Given the description of an element on the screen output the (x, y) to click on. 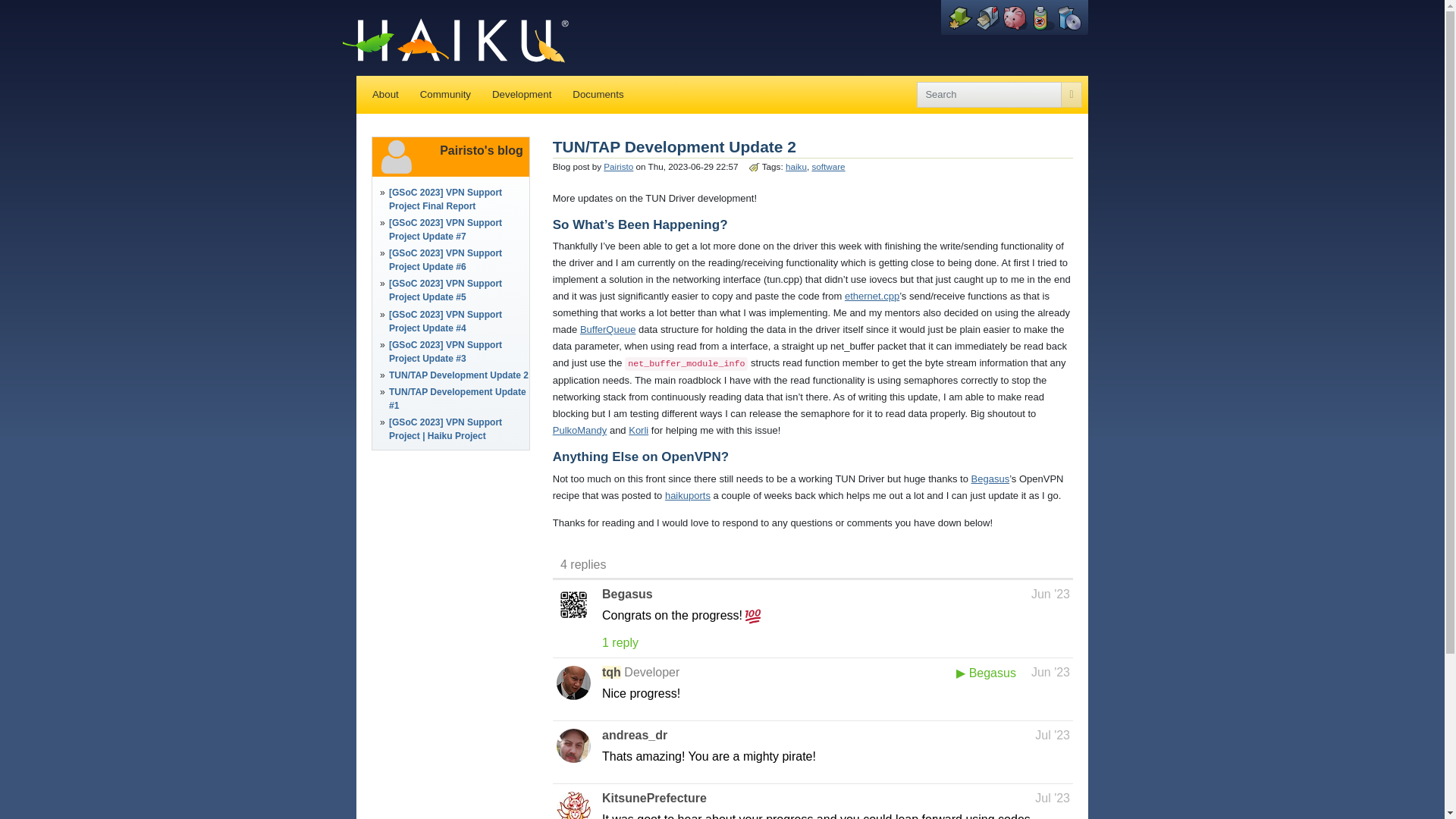
Download apps for Haiku from HaikuDepot (1069, 17)
BufferQueue (606, 328)
Community (445, 94)
Report bugs (1042, 17)
software (827, 166)
haiku (796, 166)
Pairisto's blog (450, 161)
haikuports (687, 495)
Pairisto (618, 166)
ethernet.cpp (871, 296)
PulkoMandy (580, 430)
Begasus (990, 478)
Make a donation to the Haiku Project (1015, 17)
About (385, 94)
Development (521, 94)
